Given the description of an element on the screen output the (x, y) to click on. 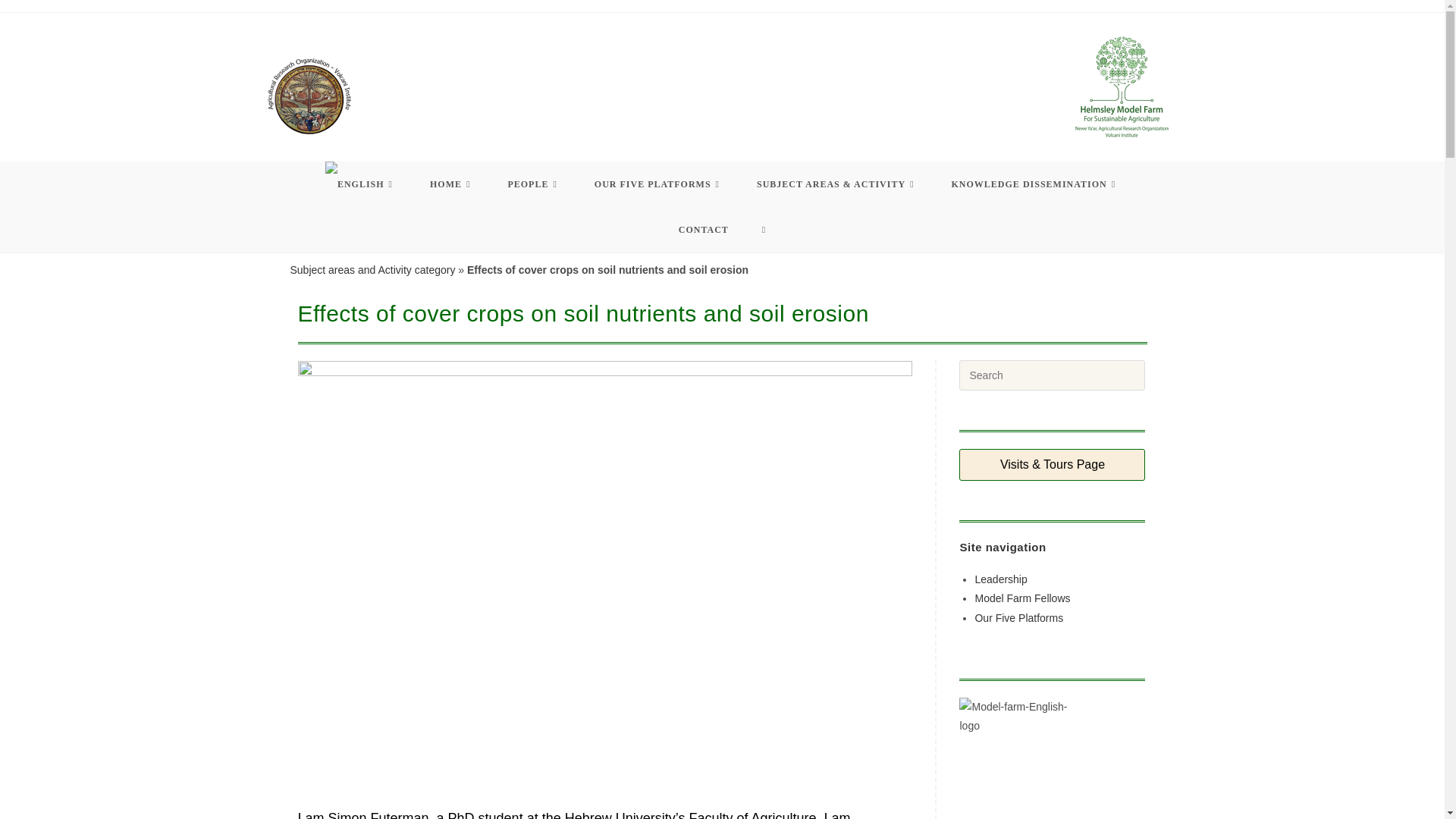
PEOPLE (533, 184)
CONTACT (703, 229)
KNOWLEDGE DISSEMINATION (1035, 184)
OUR FIVE PLATFORMS (658, 184)
HOME (451, 184)
